Given the description of an element on the screen output the (x, y) to click on. 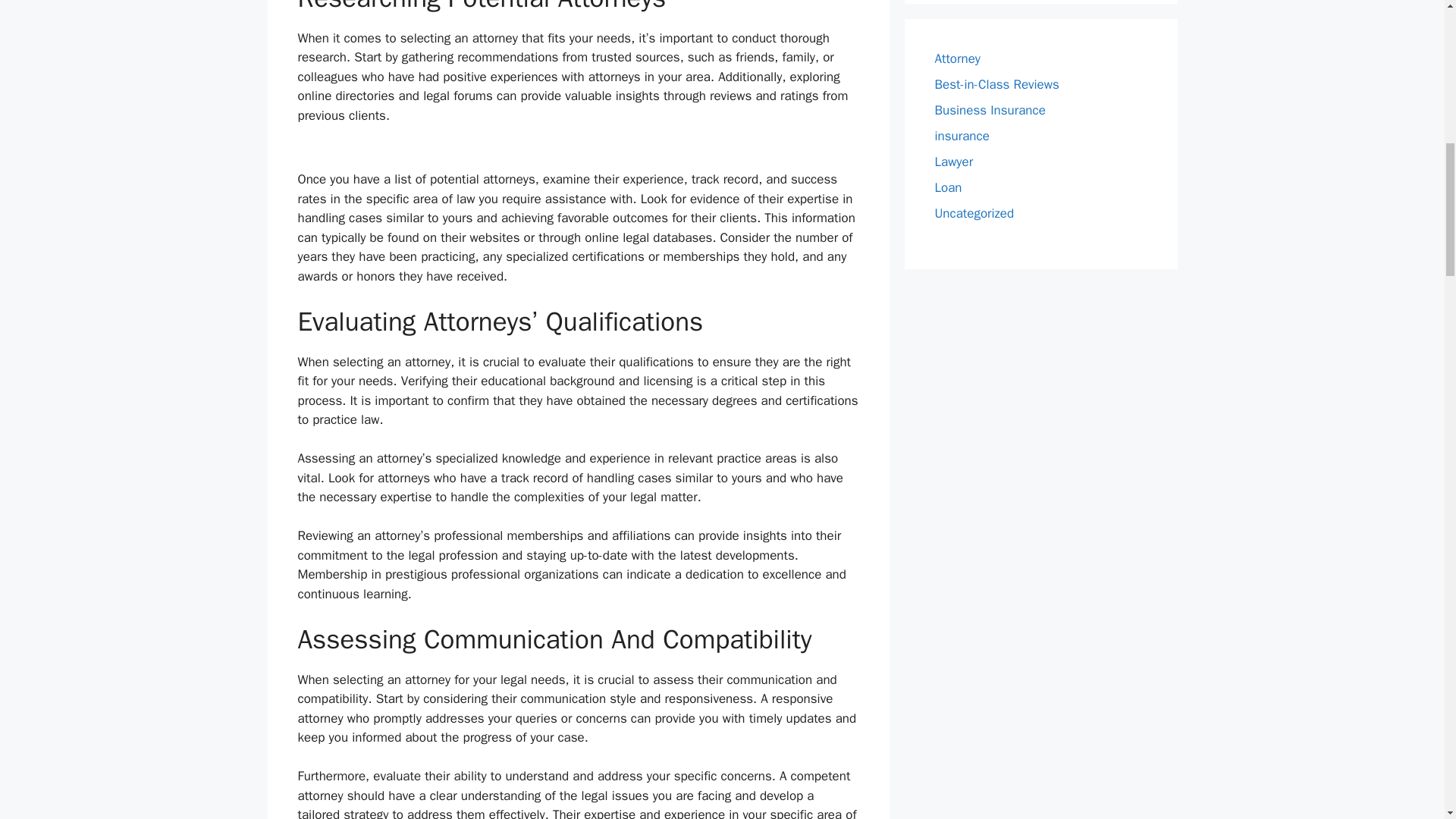
Loan (947, 187)
Attorney (956, 58)
Best-in-Class Reviews (996, 84)
Uncategorized (973, 213)
Business Insurance (989, 109)
Lawyer (953, 161)
insurance (961, 135)
